Given the description of an element on the screen output the (x, y) to click on. 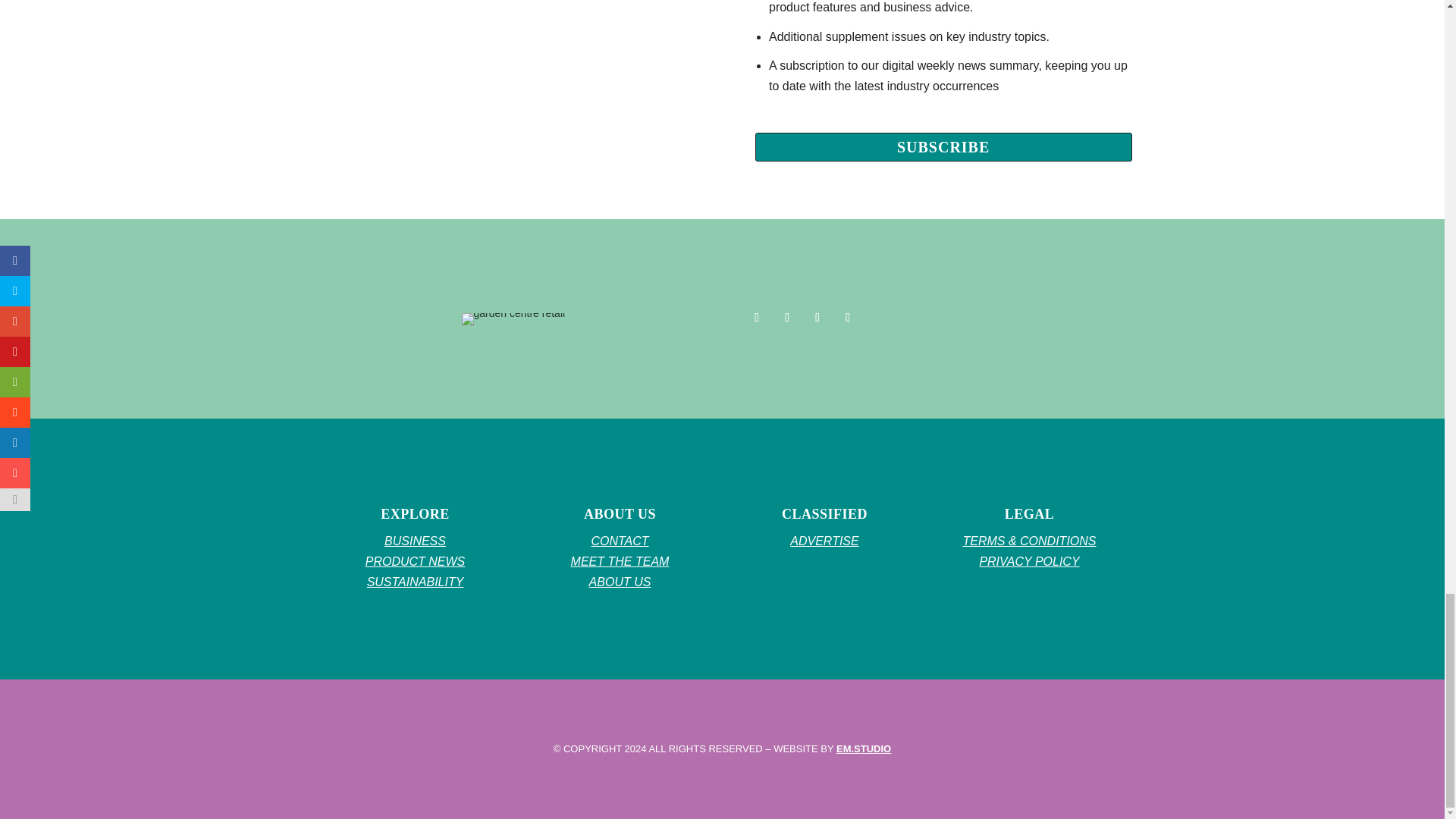
Follow on Twitter (786, 317)
Follow on LinkedIn (847, 317)
Follow on Facebook (756, 317)
Follow on Instagram (817, 317)
